Given the description of an element on the screen output the (x, y) to click on. 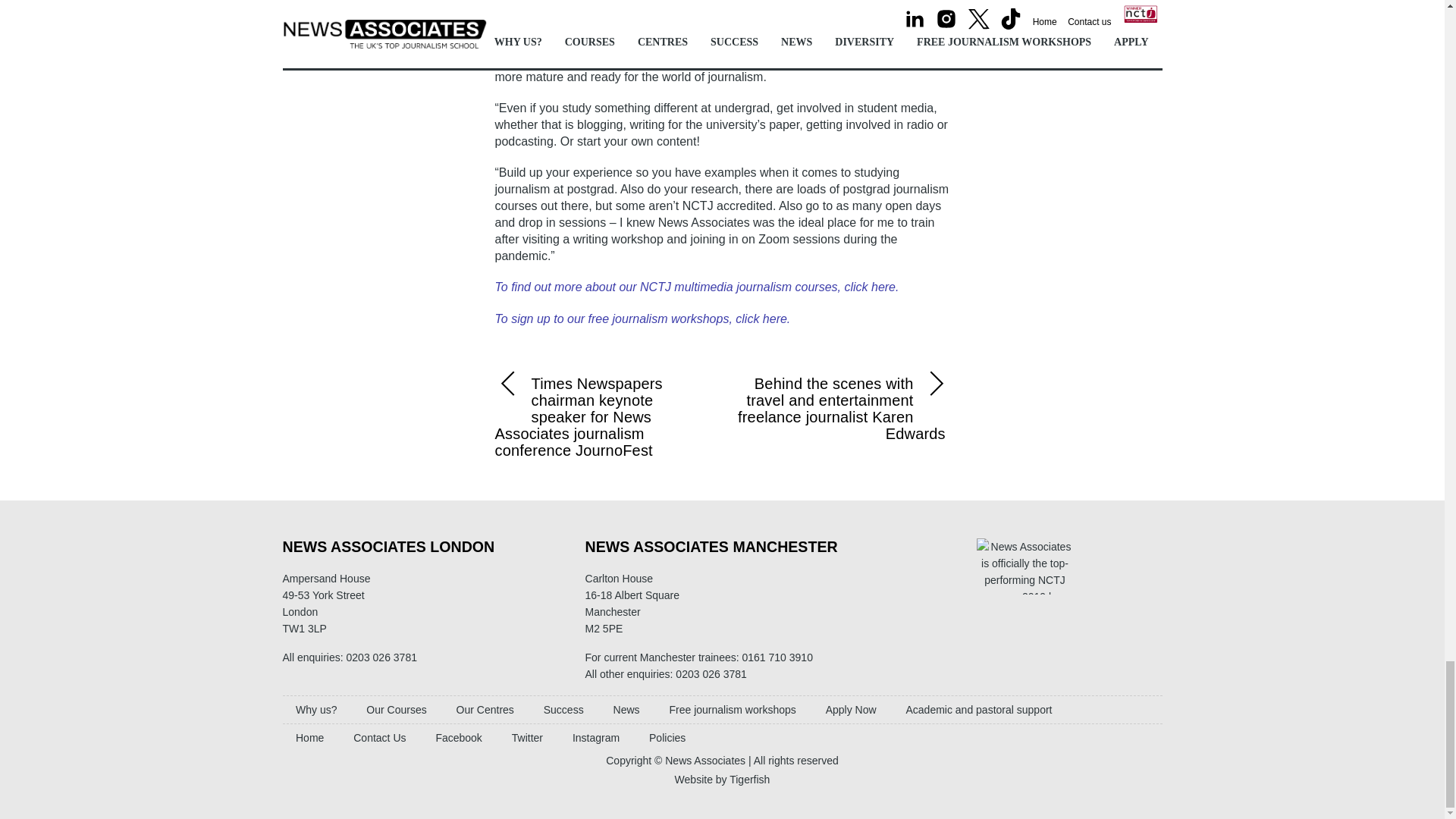
View information on our centres (484, 709)
To sign up to our free journalism workshops, click here. (642, 318)
Why study with News Associates? (315, 709)
Read about News Associates success (562, 709)
View our range of courses (396, 709)
